Given the description of an element on the screen output the (x, y) to click on. 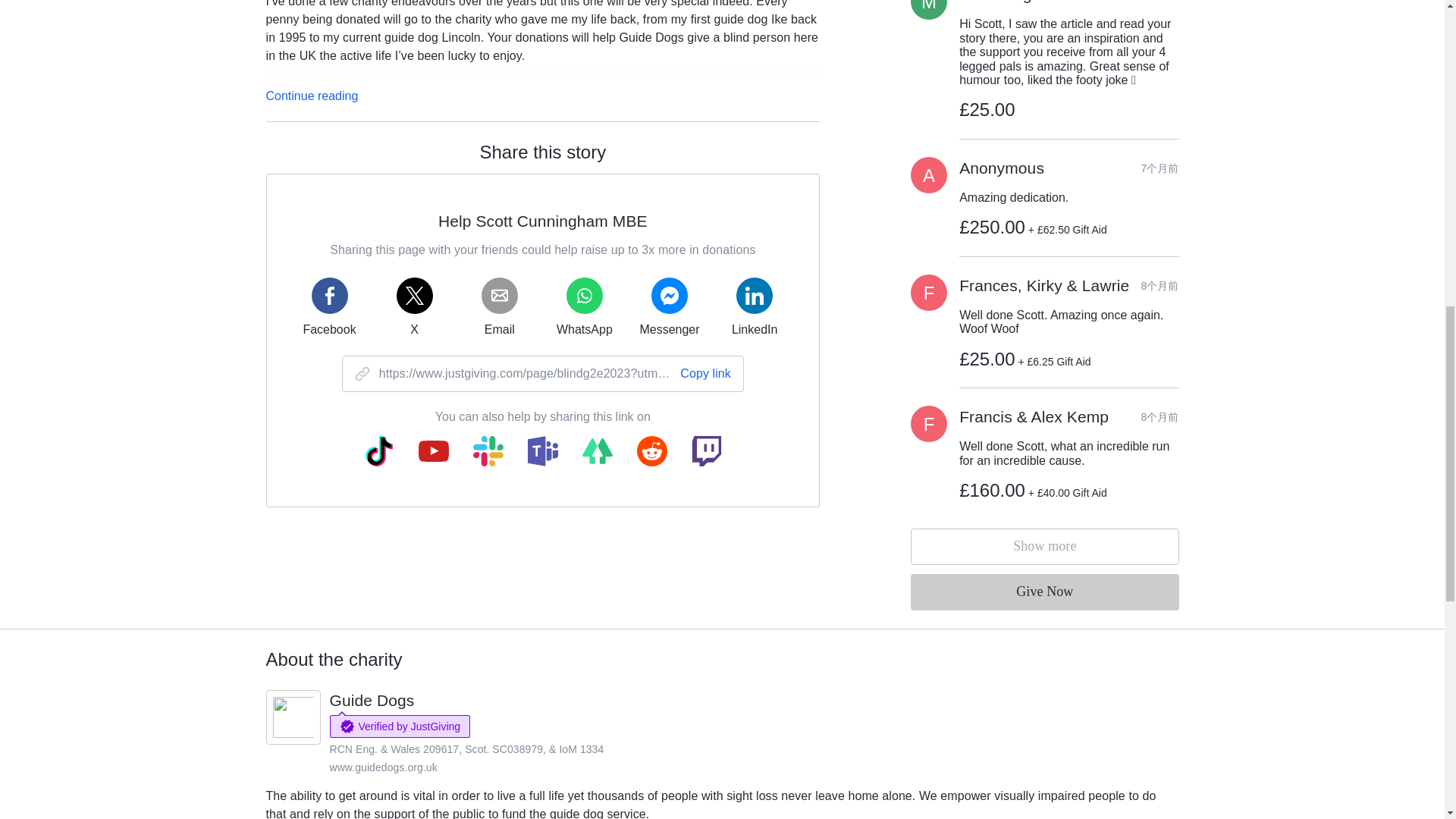
Facebook (329, 306)
Continue reading (311, 95)
Messenger (669, 306)
X (414, 306)
WhatsApp (584, 306)
LinkedIn (754, 306)
Email (499, 306)
